Given the description of an element on the screen output the (x, y) to click on. 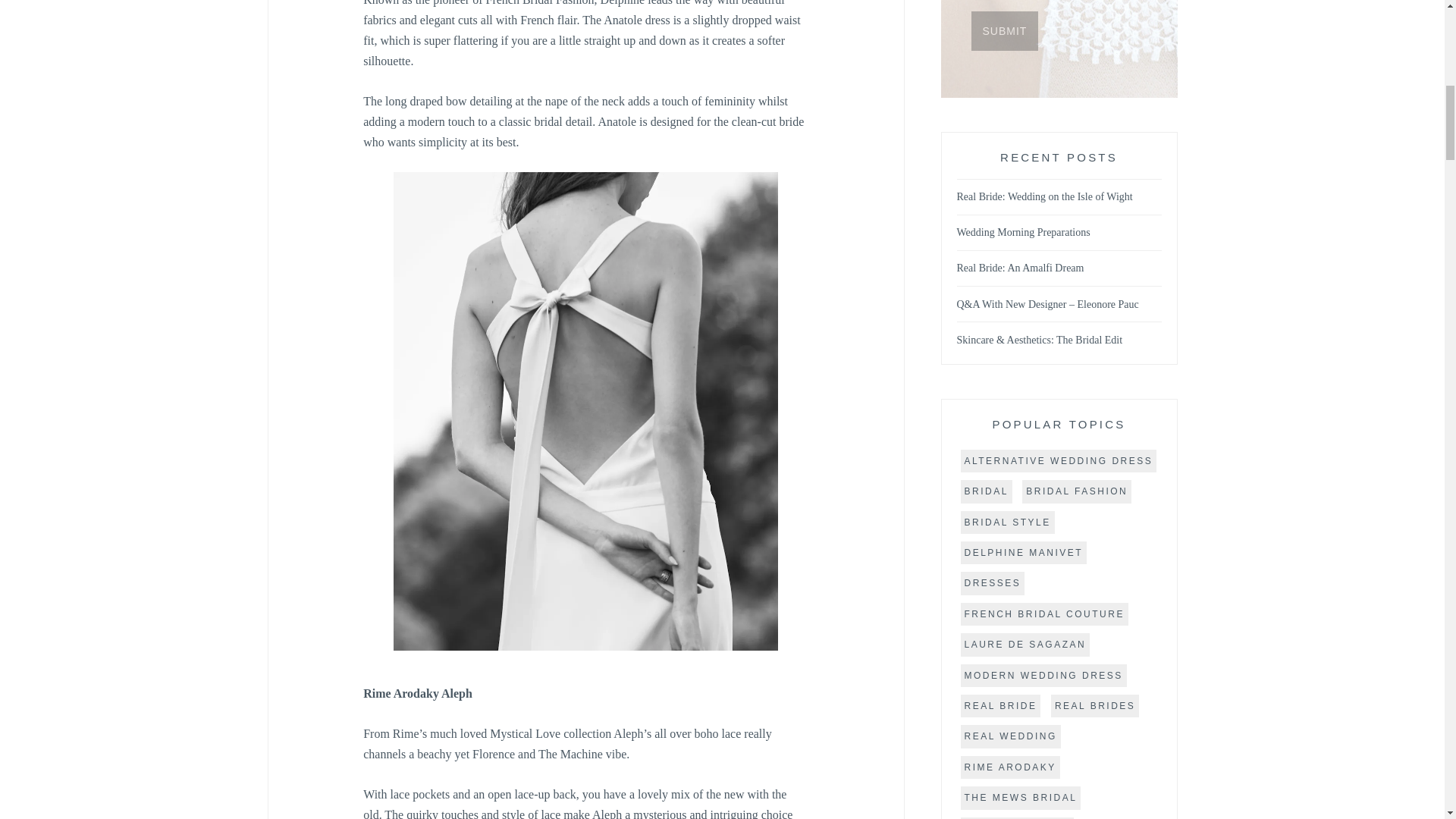
Real Bride: An Amalfi Dream (1020, 268)
SUBMIT (1004, 30)
Real Bride: Wedding on the Isle of Wight (1044, 196)
Wedding Morning Preparations (1023, 232)
ALTERNATIVE WEDDING DRESS (1057, 460)
